Given the description of an element on the screen output the (x, y) to click on. 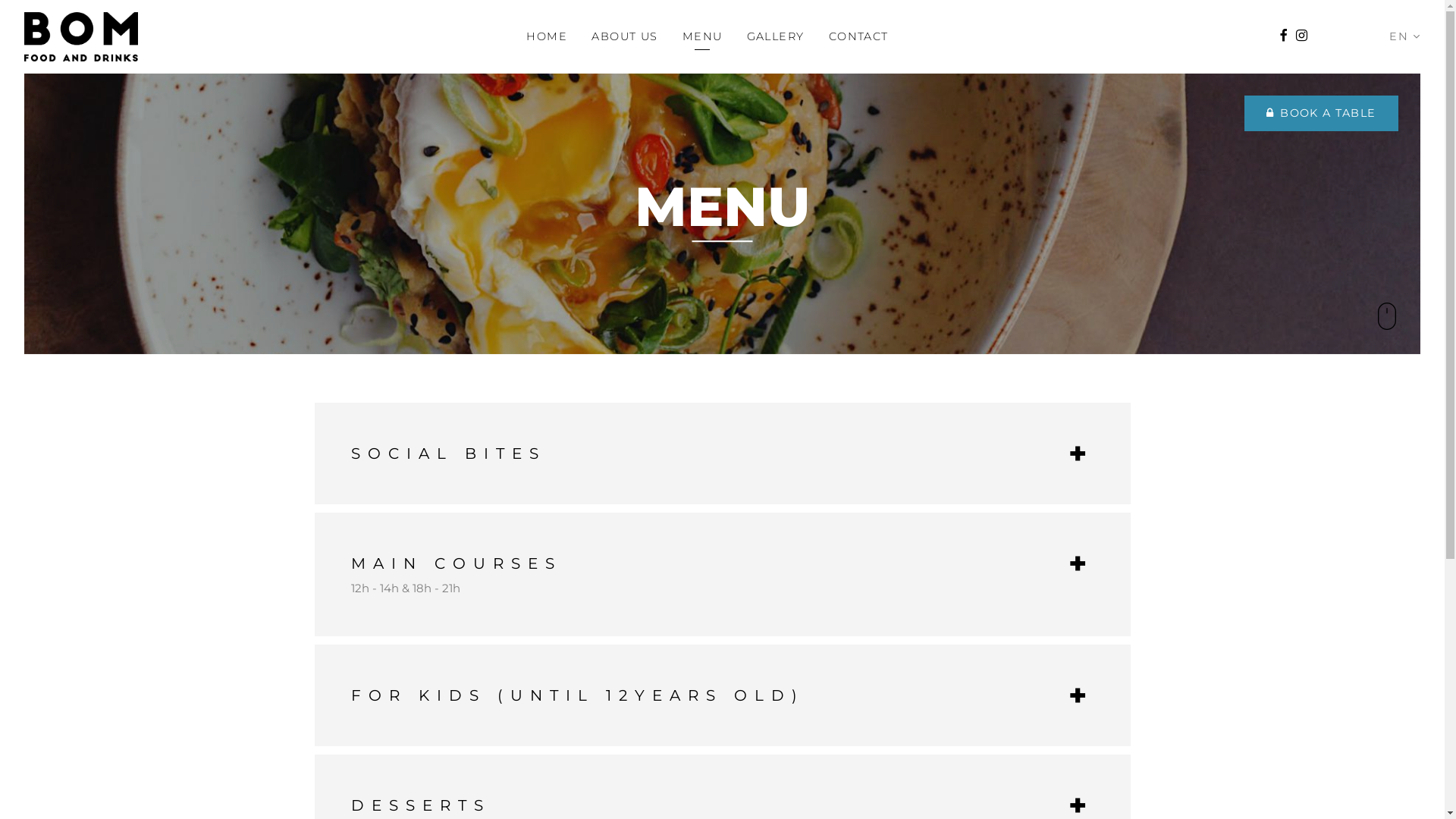
BOOK A TABLE Element type: text (1321, 113)
GALLERY Element type: text (775, 36)
HOME Element type: text (546, 36)
EN Element type: text (1404, 36)
ABOUT US Element type: text (624, 36)
MENU Element type: text (702, 36)
CONTACT Element type: text (858, 36)
